Given the description of an element on the screen output the (x, y) to click on. 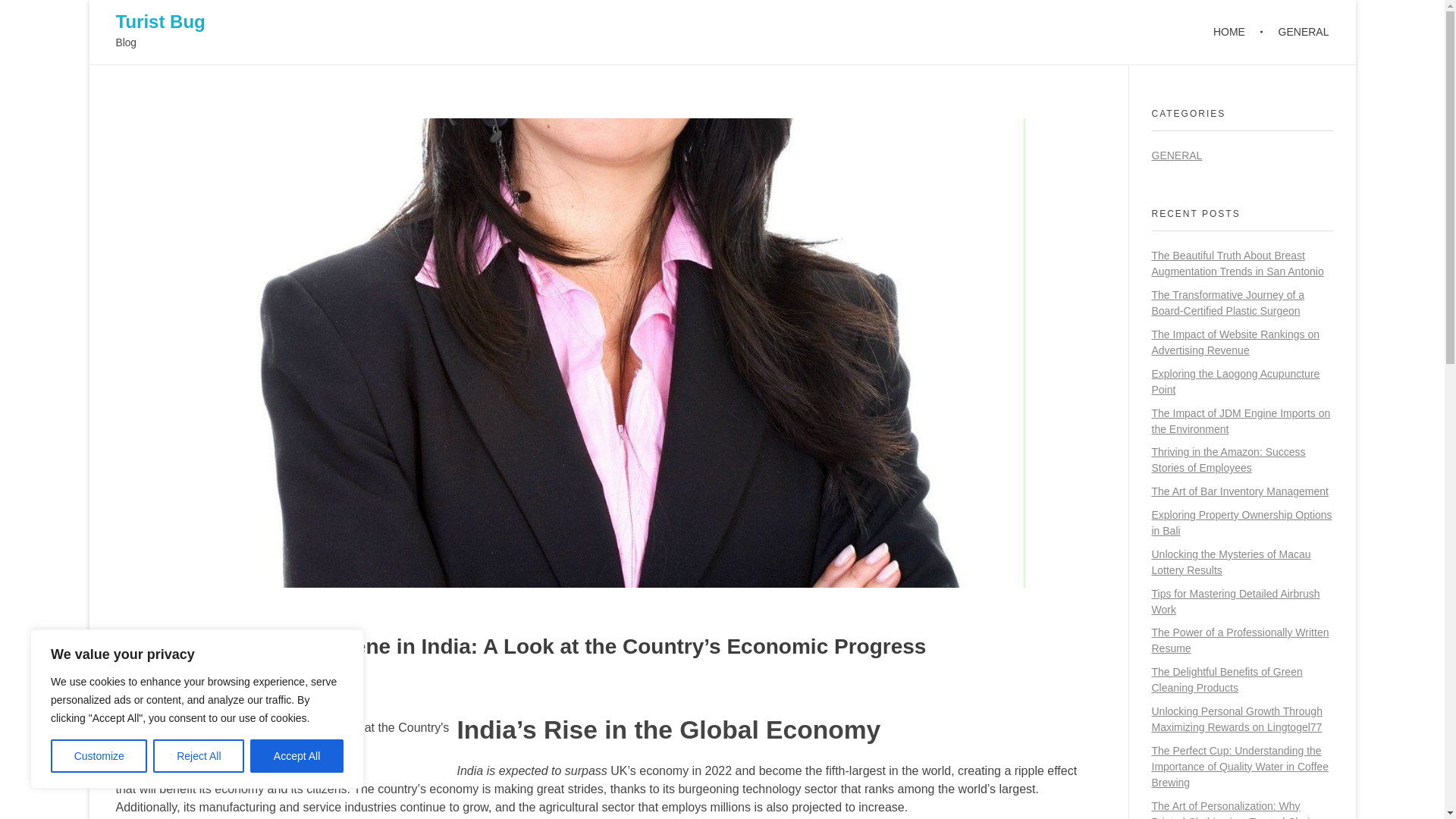
Tips for Mastering Detailed Airbrush Work (1235, 601)
Reject All (198, 756)
Accept All (296, 756)
Unlocking the Mysteries of Macau Lottery Results (1230, 561)
GENERAL (1176, 155)
GENERAL (1295, 32)
The Art of Bar Inventory Management (1239, 491)
Exploring Property Ownership Options in Bali (1241, 522)
General (276, 686)
Exploring the Laogong Acupuncture Point (1235, 381)
Turist Bug (160, 21)
Thriving in the Amazon: Success Stories of Employees (1227, 459)
View all posts in General (276, 686)
The Impact of JDM Engine Imports on the Environment (1240, 420)
